Given the description of an element on the screen output the (x, y) to click on. 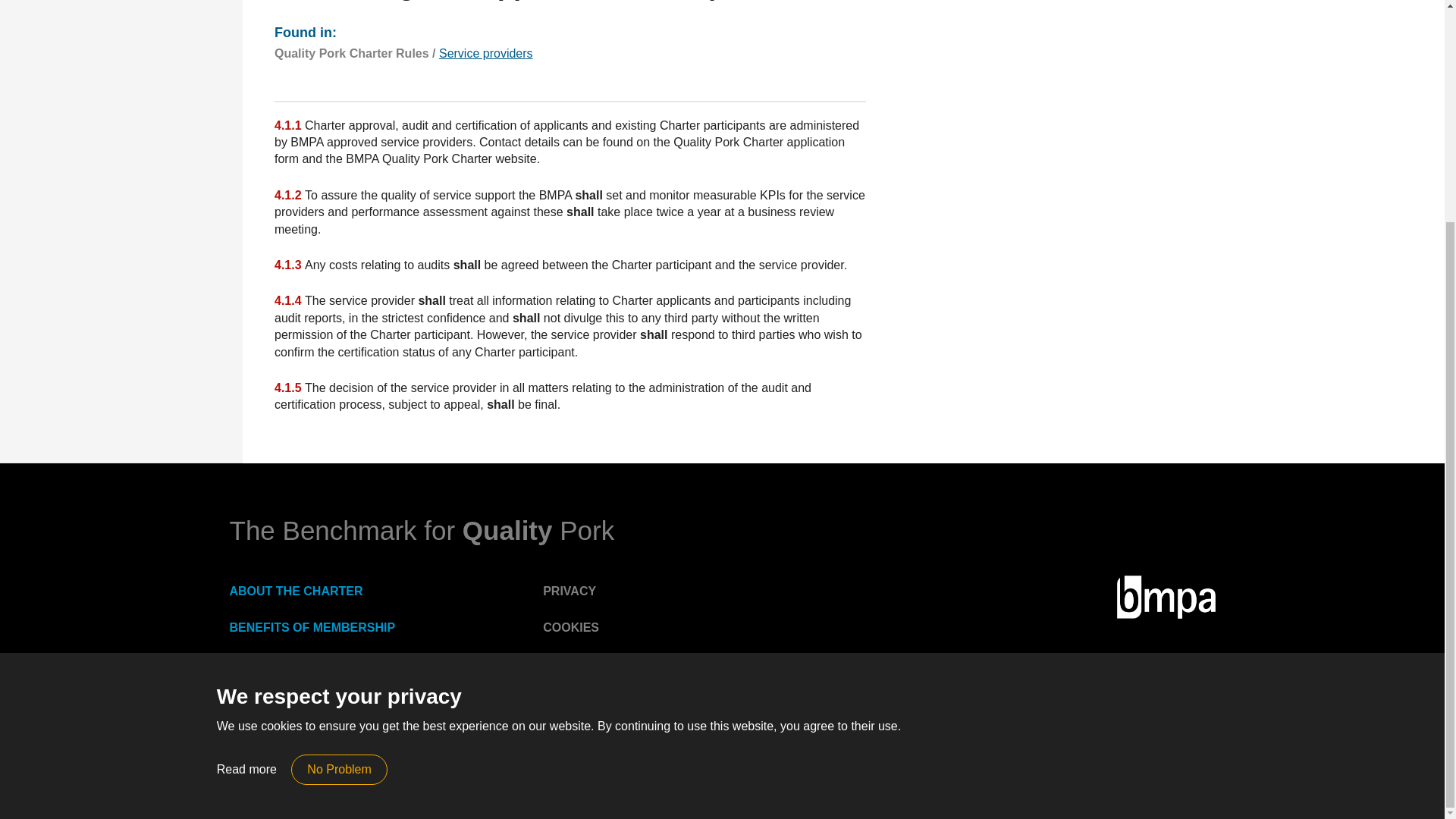
LEGAL (563, 662)
Service providers (485, 52)
BENEFITS OF MEMBERSHIP (311, 626)
COOKIES (570, 626)
ABOUT THE CHARTER (295, 590)
Website by ooda (963, 761)
PRIVACY (569, 590)
Read more (246, 473)
No Problem (339, 473)
CONTACT US (267, 698)
OUR MEMBERS (274, 662)
